Given the description of an element on the screen output the (x, y) to click on. 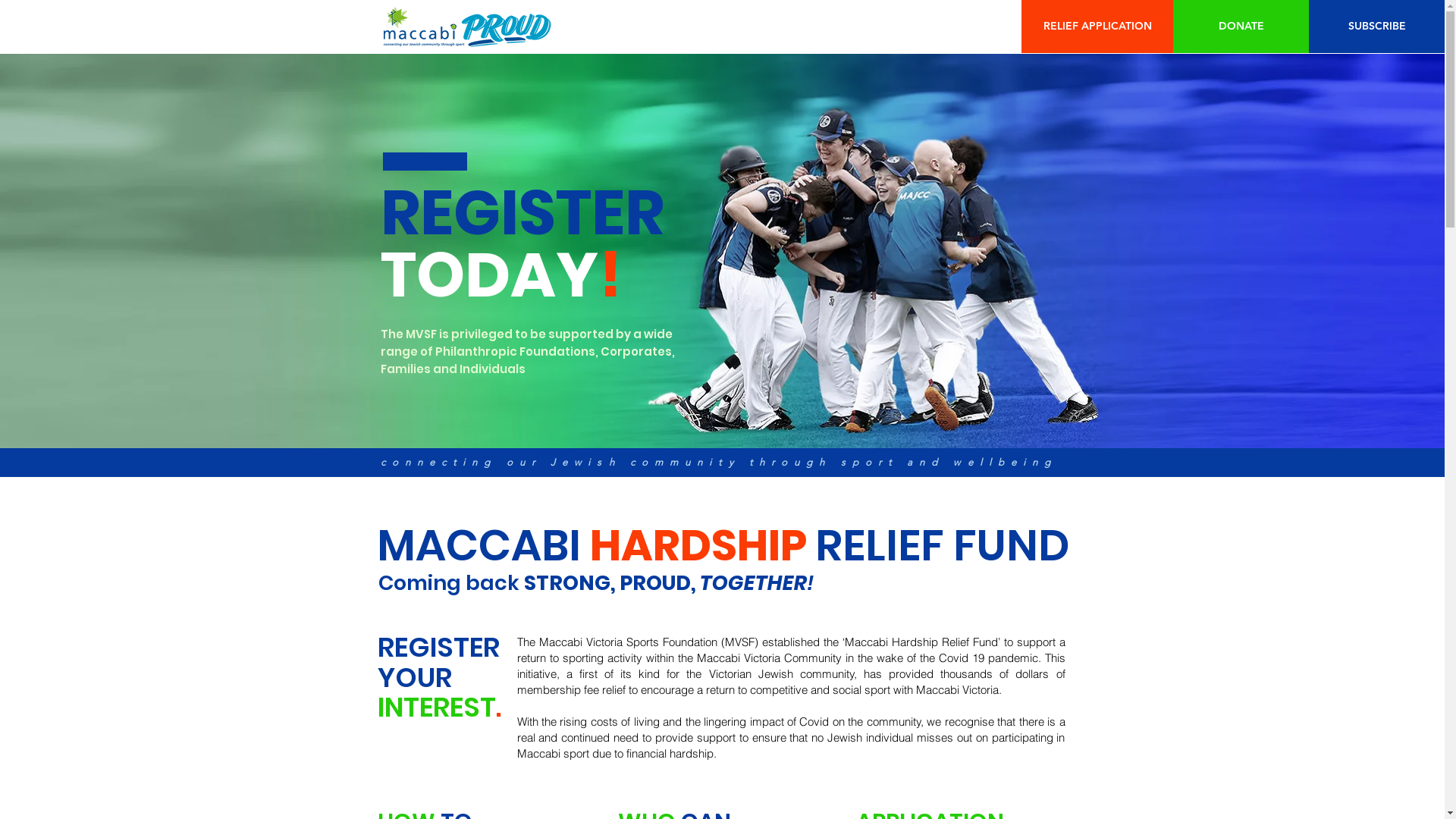
DONATE Element type: text (1240, 26)
RELIEF APPLICATION Element type: text (1097, 26)
SUBSCRIBE Element type: text (1376, 26)
